Given the description of an element on the screen output the (x, y) to click on. 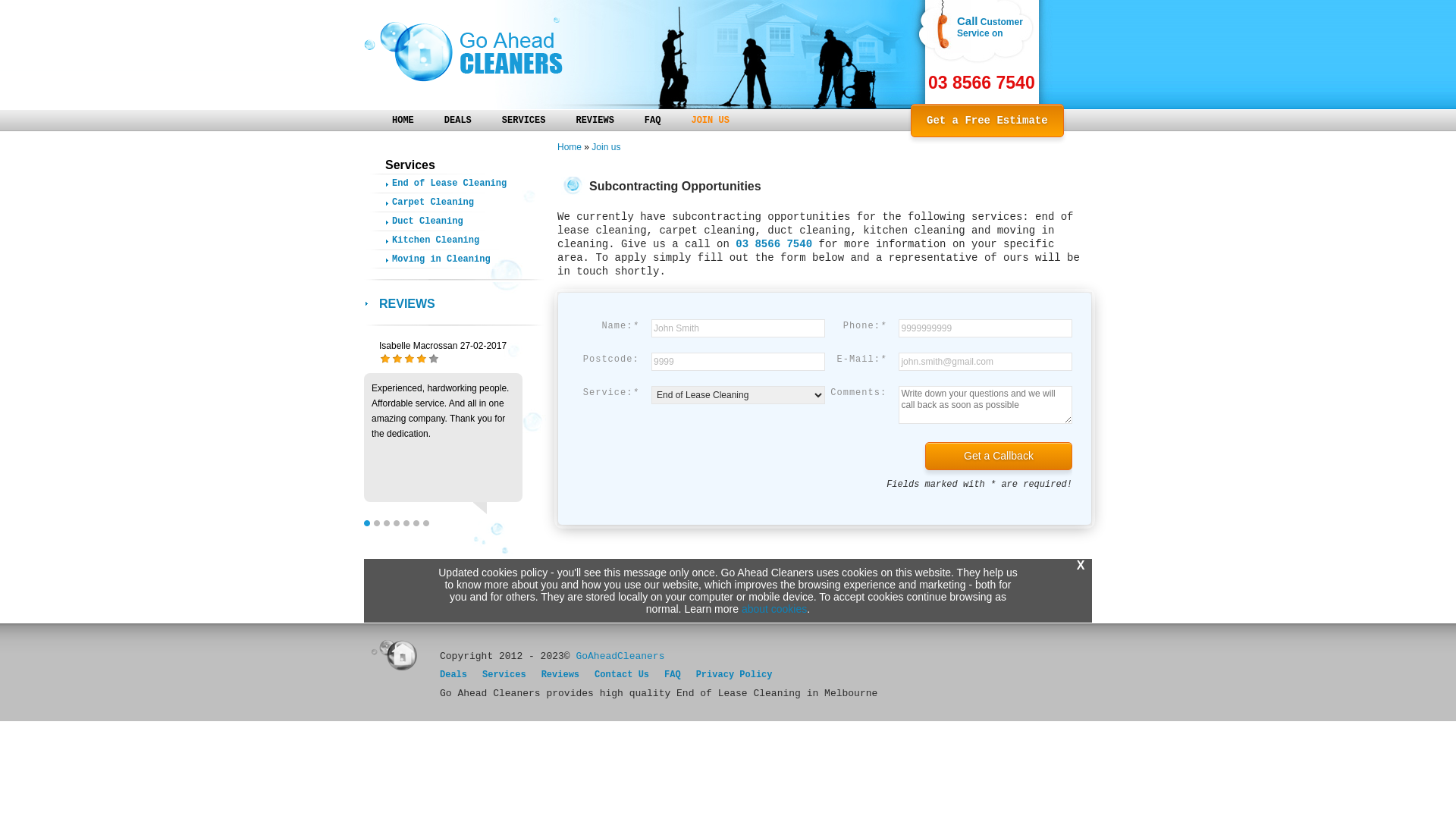
Kitchen Cleaning Element type: text (460, 239)
REVIEWS Element type: text (594, 119)
Get a Free Estimate Element type: text (986, 120)
FAQ Element type: text (652, 119)
REVIEWS Element type: text (439, 302)
Join us Element type: text (605, 146)
Moving in Cleaning Element type: text (460, 258)
Get a Callback Element type: text (998, 456)
Services Element type: text (504, 674)
SERVICES Element type: text (523, 119)
HOME Element type: text (402, 119)
Contact Us Element type: text (621, 674)
JOIN US Element type: text (709, 119)
about cookies Element type: text (773, 608)
GoAheadCleaners Element type: text (619, 656)
FAQ Element type: text (672, 674)
Home Element type: text (569, 146)
End of Lease Cleaning Element type: text (460, 182)
Reviews Element type: text (560, 674)
Carpet Cleaning Element type: text (460, 201)
03 8566 7540 Element type: text (1001, 82)
Duct Cleaning Element type: text (460, 220)
Deals Element type: text (453, 674)
Go Ahead Cleaners Element type: hover (496, 54)
Privacy Policy Element type: text (734, 674)
Go Ahead Cleaners Element type: hover (463, 49)
Get a Callback Element type: hover (998, 456)
DEALS Element type: text (457, 119)
